Given the description of an element on the screen output the (x, y) to click on. 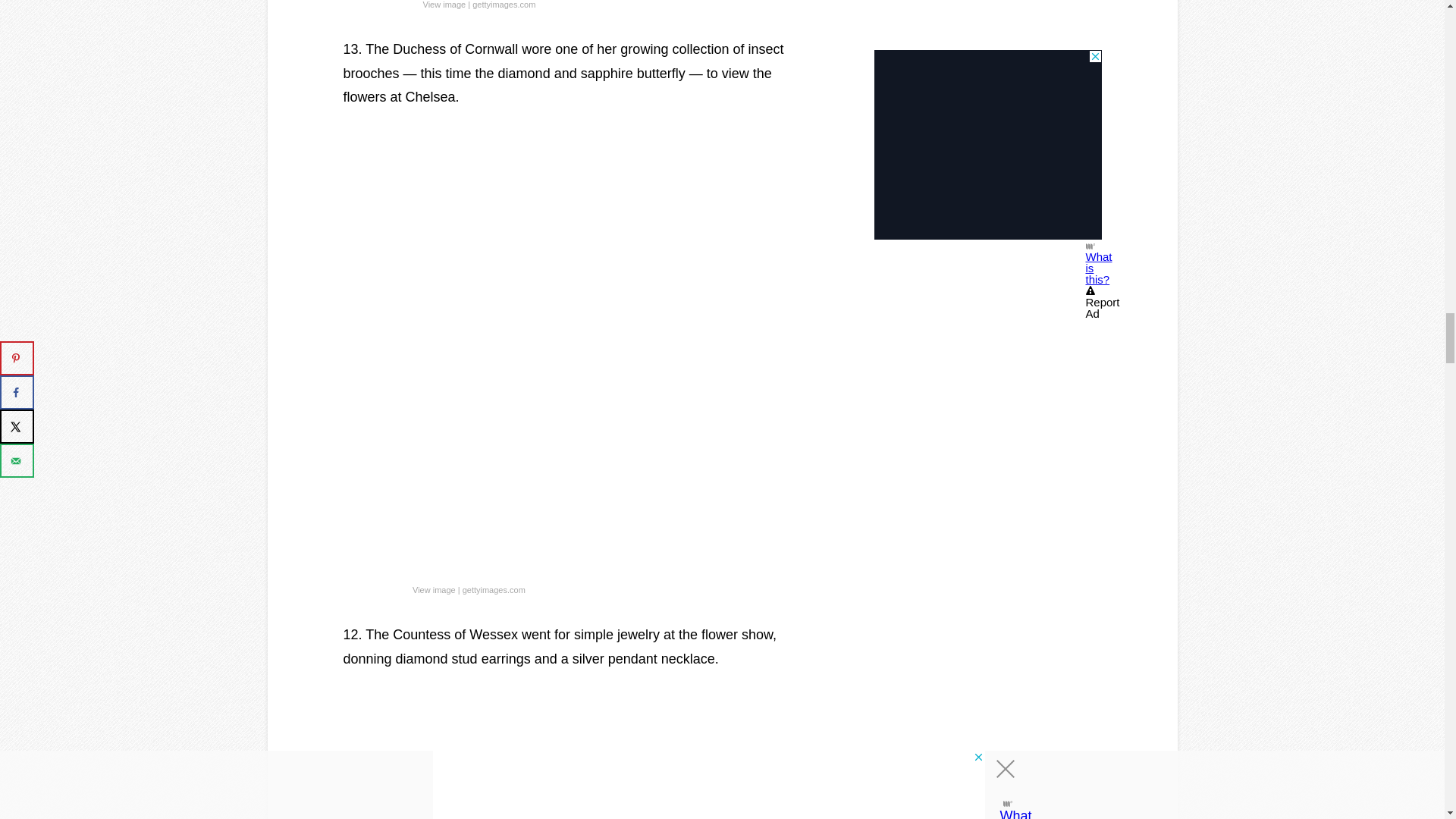
View image (433, 589)
gettyimages.com (494, 589)
View image (444, 6)
gettyimages.com (503, 6)
